Given the description of an element on the screen output the (x, y) to click on. 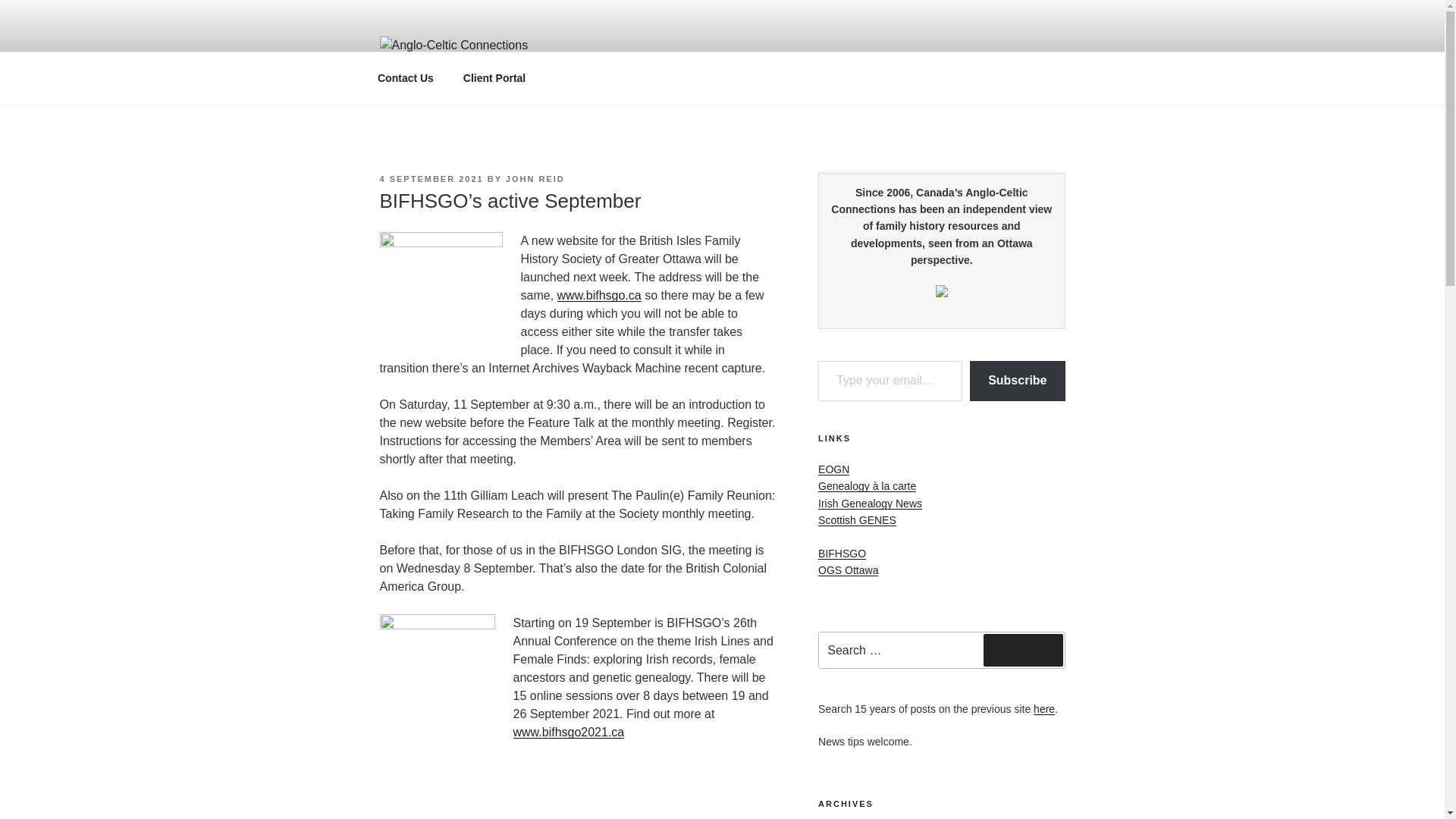
www.bifhsgo2021.ca (568, 731)
Subscribe (1016, 381)
www.bifhsgo.ca (599, 295)
JOHN REID (534, 178)
EOGN (833, 469)
Please fill in this field. (890, 381)
here (1043, 708)
OGS Ottawa (847, 570)
ANGLO-CELTIC CONNECTIONS (611, 86)
Client Portal (493, 78)
